Given the description of an element on the screen output the (x, y) to click on. 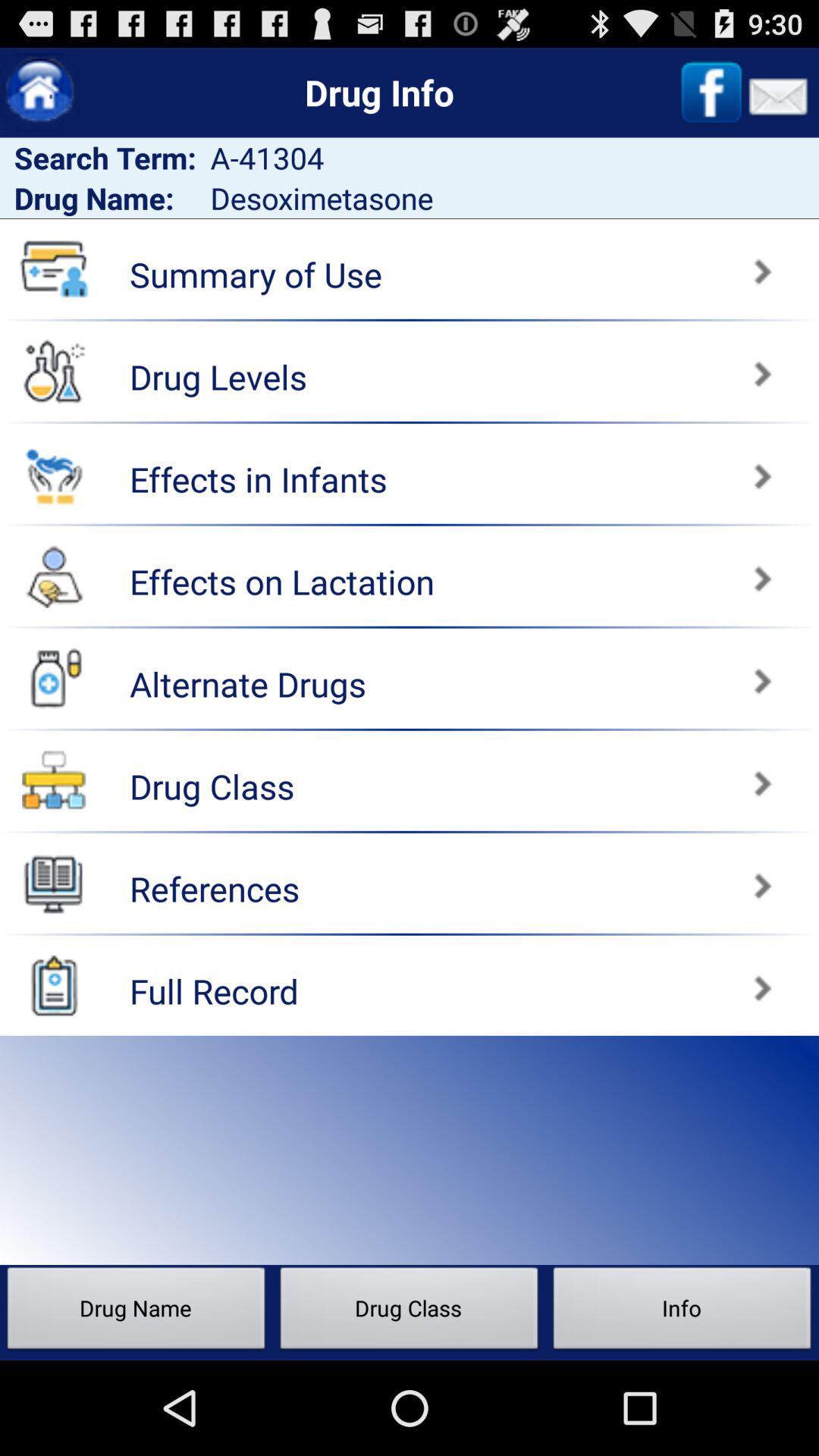
record (53, 985)
